Given the description of an element on the screen output the (x, y) to click on. 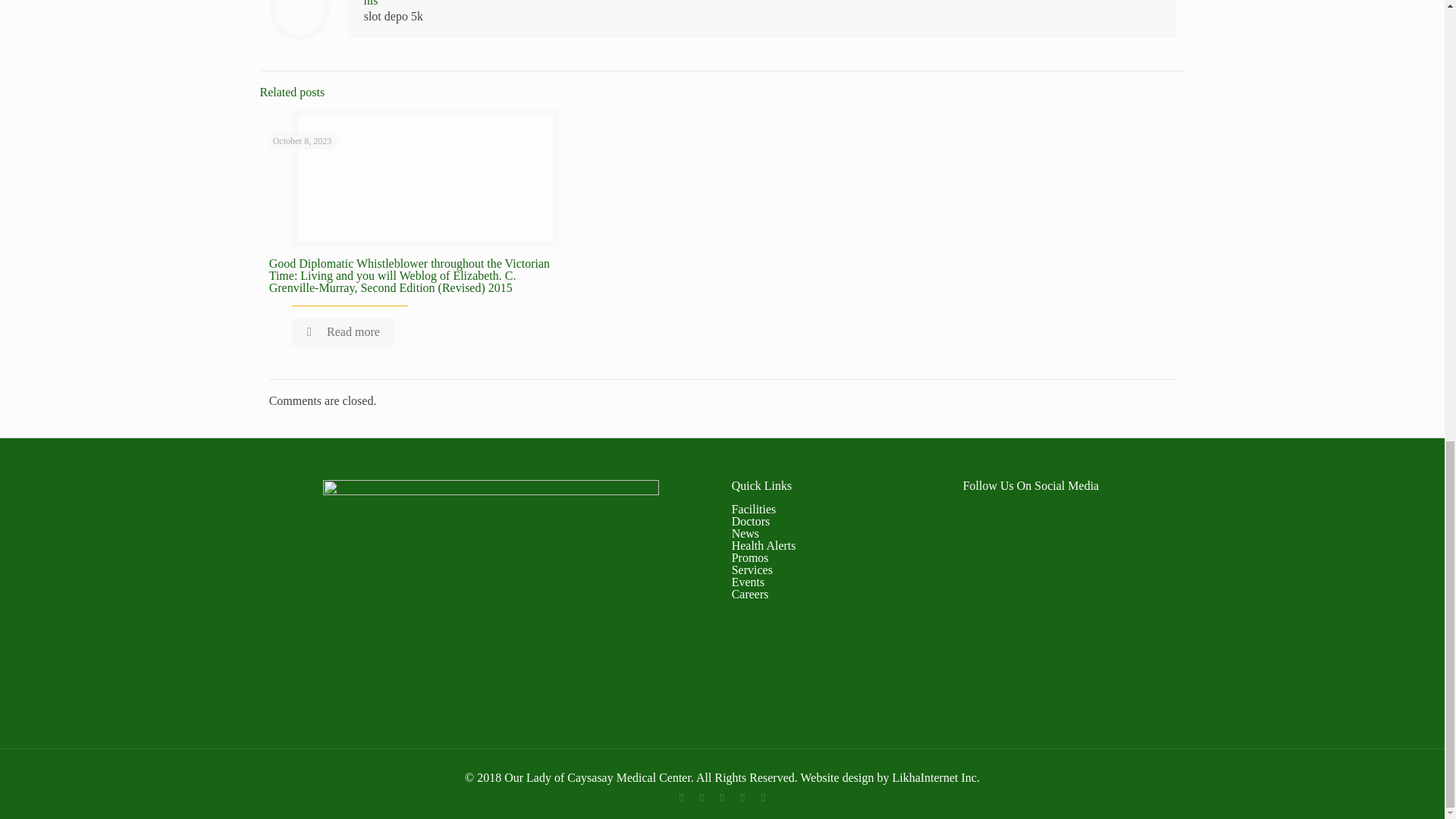
Facebook (680, 797)
Twitter (722, 797)
YouTube (743, 797)
Instagram (763, 797)
